Given the description of an element on the screen output the (x, y) to click on. 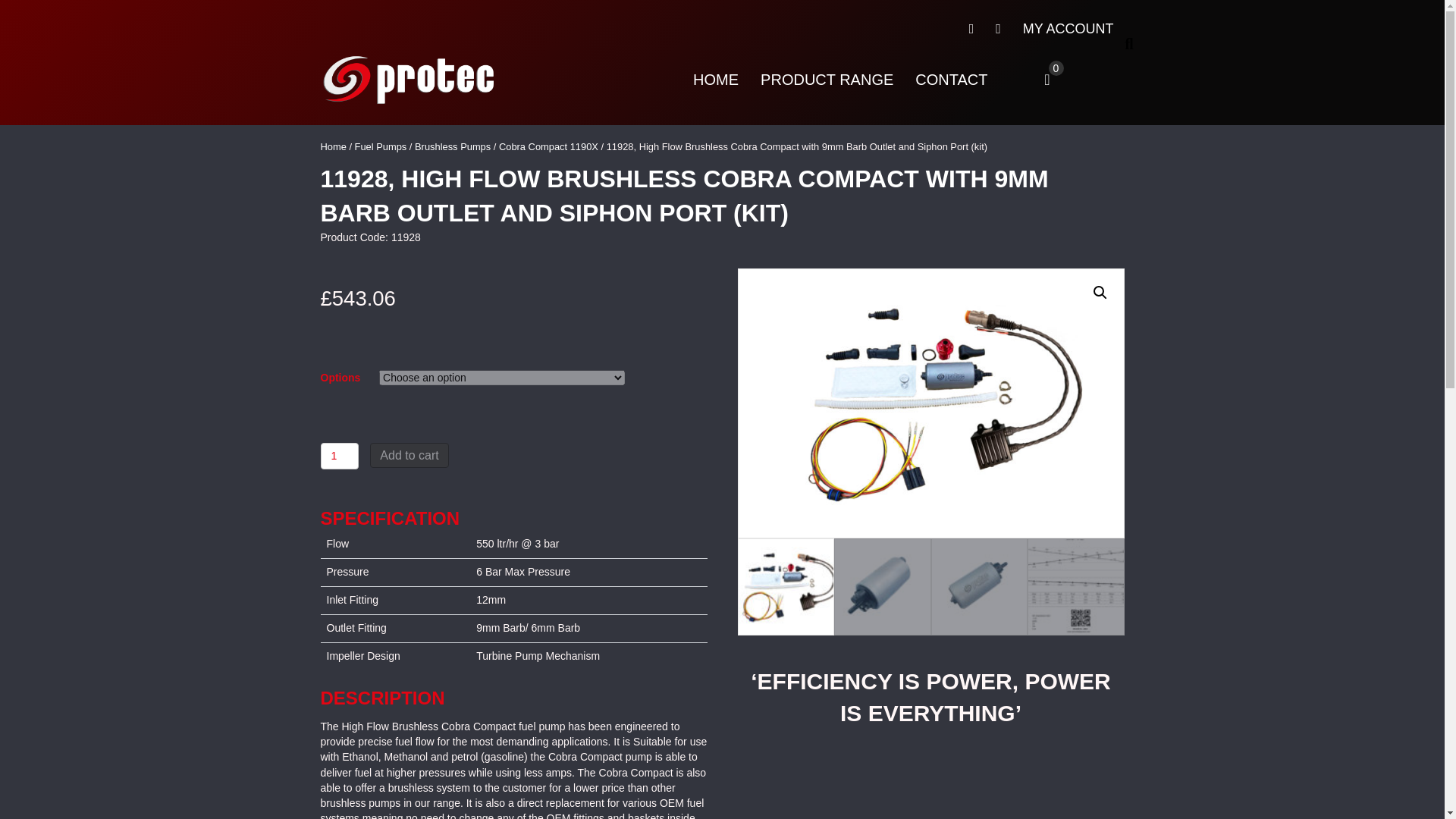
PRODUCT RANGE (826, 79)
protec-logo (408, 79)
1 (339, 456)
11924 kit image (930, 403)
MY ACCOUNT (1067, 28)
Home (333, 146)
HOME (715, 79)
CONTACT (950, 79)
